Given the description of an element on the screen output the (x, y) to click on. 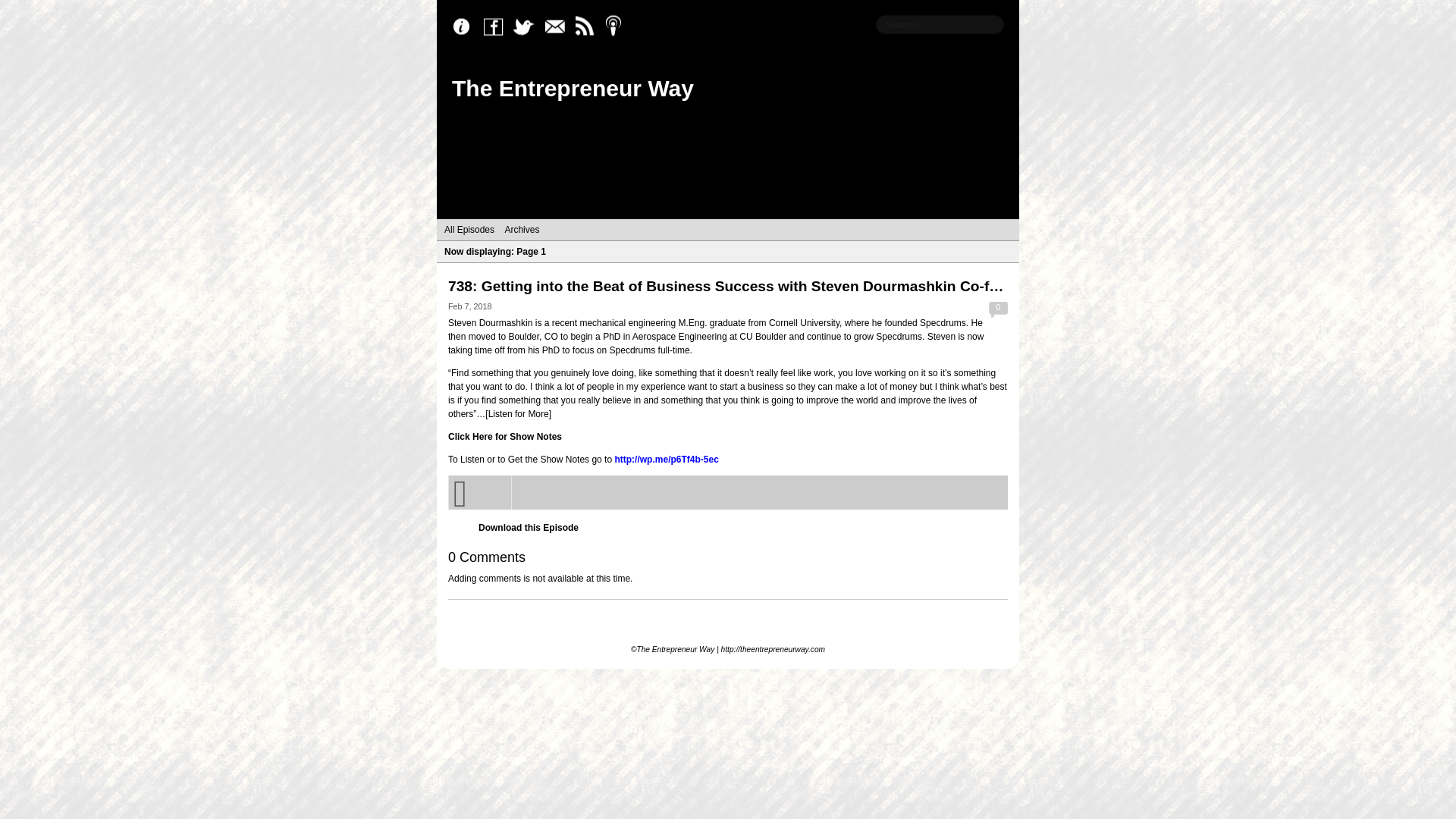
Twitter (527, 26)
Facebook (496, 26)
RSS Feed (588, 26)
The Entrepreneur Way (572, 88)
Steven Dourmashkin (490, 322)
Libsyn Player (727, 492)
Click Here for Show Notes (505, 436)
Email (558, 26)
Subscribe in Apple Podcasts (618, 26)
